Given the description of an element on the screen output the (x, y) to click on. 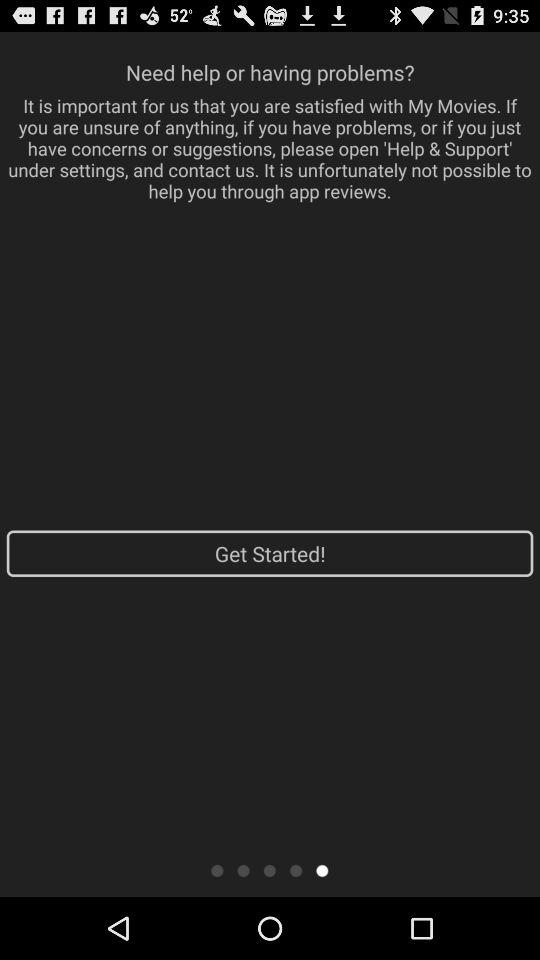
press icon below get started! app (321, 870)
